Given the description of an element on the screen output the (x, y) to click on. 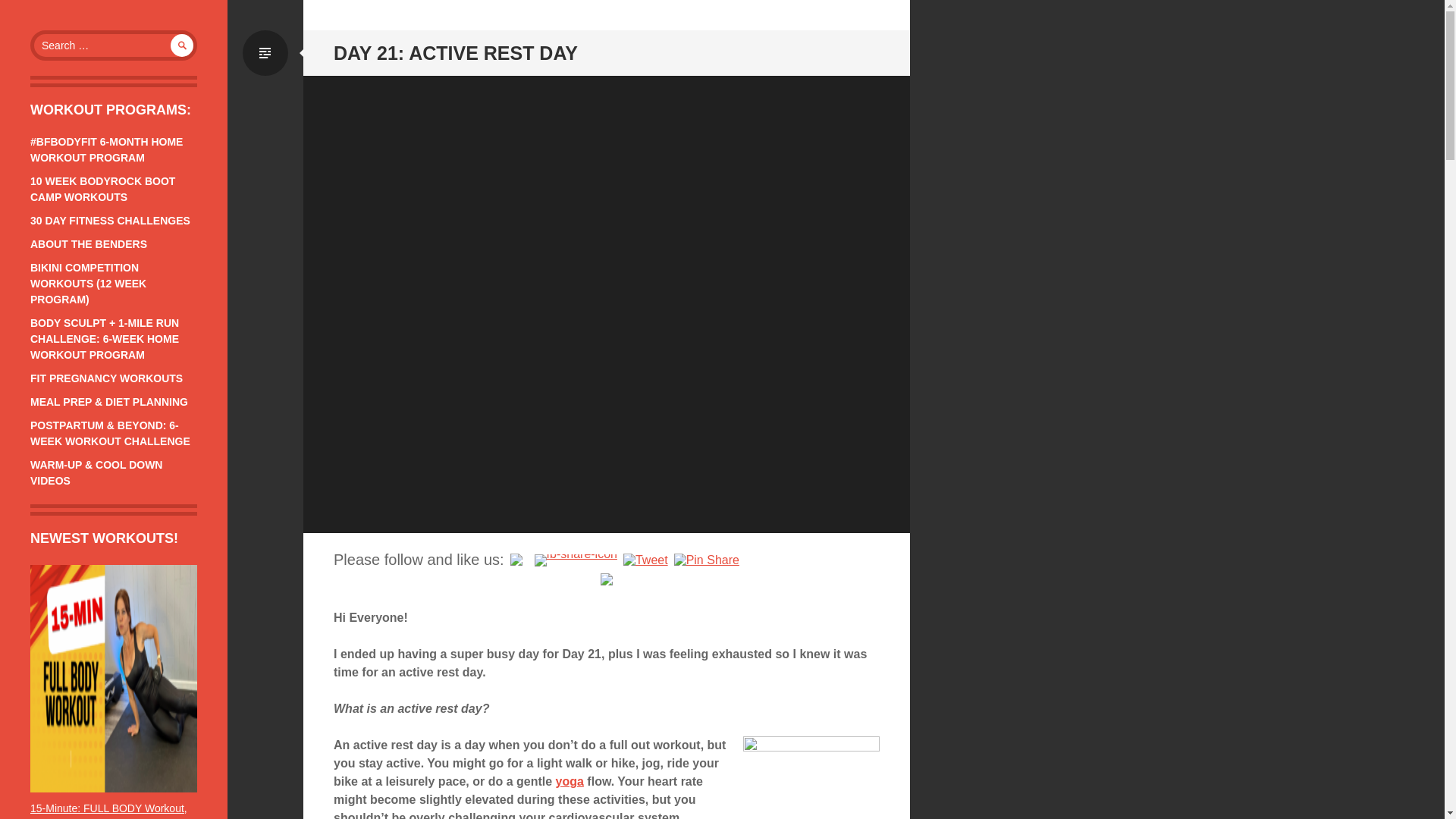
Search for: (113, 45)
Pin Share (706, 560)
30 DAY FITNESS CHALLENGES (110, 220)
FIT PREGNANCY WORKOUTS (106, 378)
10 WEEK BODYROCK BOOT CAMP WORKOUTS (102, 189)
Facebook Share (575, 560)
15-Minute: FULL BODY Workout, Home Exercise Routine (108, 810)
Tweet (645, 560)
ABOUT THE BENDERS (88, 244)
